Given the description of an element on the screen output the (x, y) to click on. 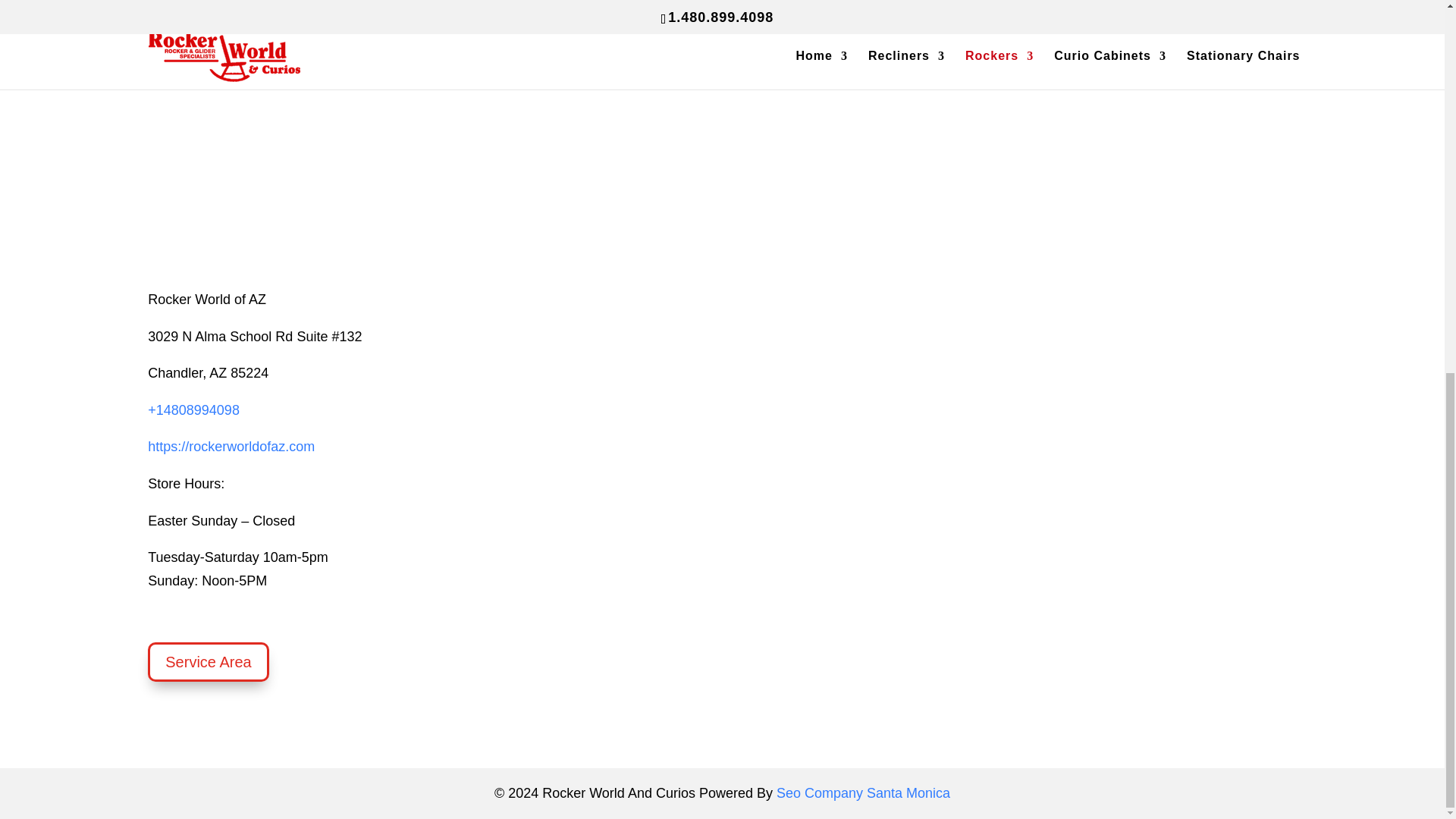
Seo Company Santa Monica (863, 792)
Service Area (207, 661)
